Given the description of an element on the screen output the (x, y) to click on. 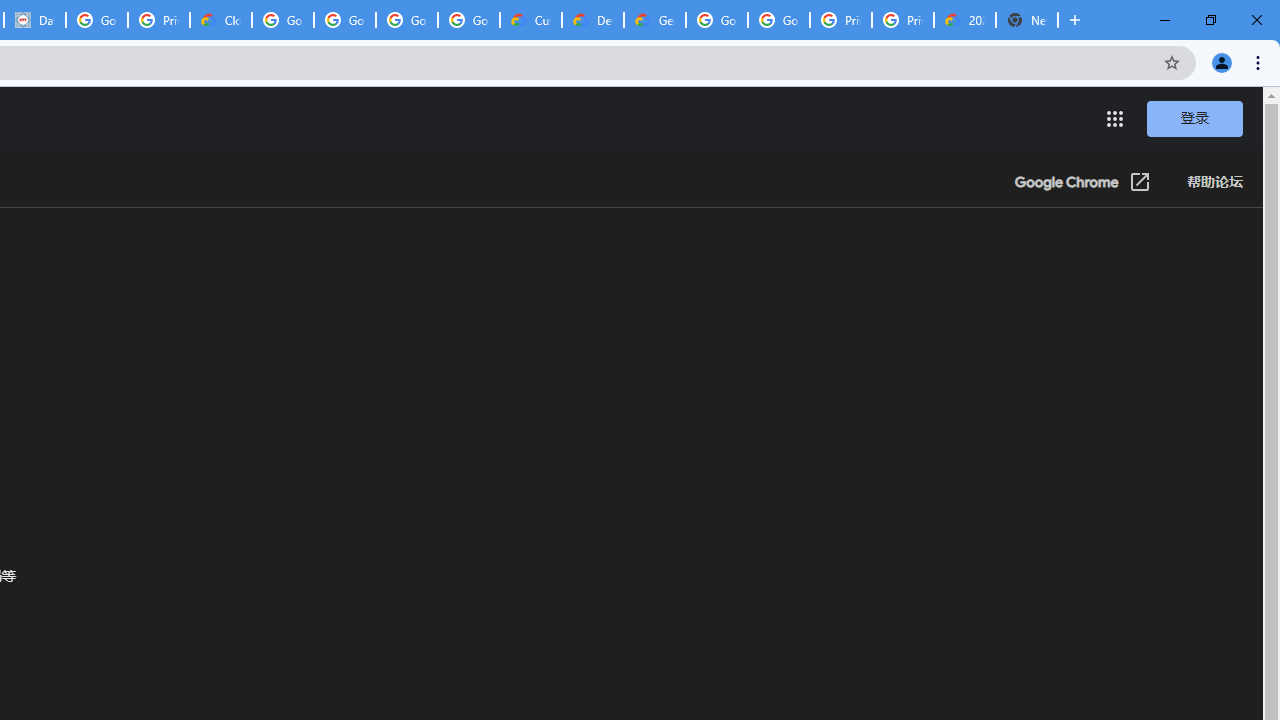
Google Cloud Platform (716, 20)
Google Workspace - Specific Terms (406, 20)
Google Workspace - Specific Terms (468, 20)
